Given the description of an element on the screen output the (x, y) to click on. 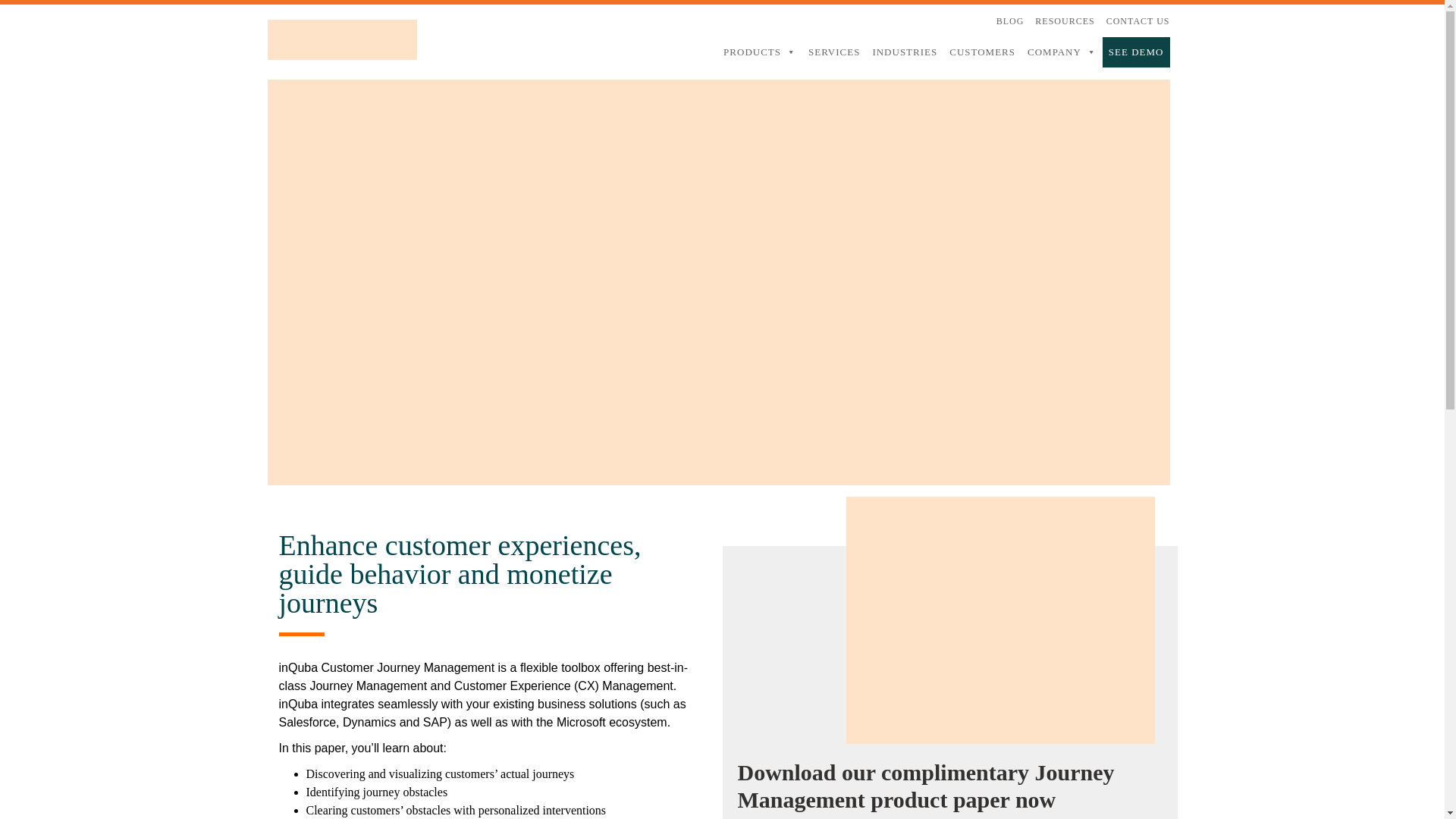
PRODUCTS (759, 51)
SEE DEMO (1136, 51)
RESOURCES (1064, 20)
inQuba (341, 33)
CONTACT US (1138, 21)
INDUSTRIES (904, 51)
COMPANY (1062, 51)
BLOG (1010, 20)
CUSTOMERS (982, 51)
SERVICES (834, 51)
